Given the description of an element on the screen output the (x, y) to click on. 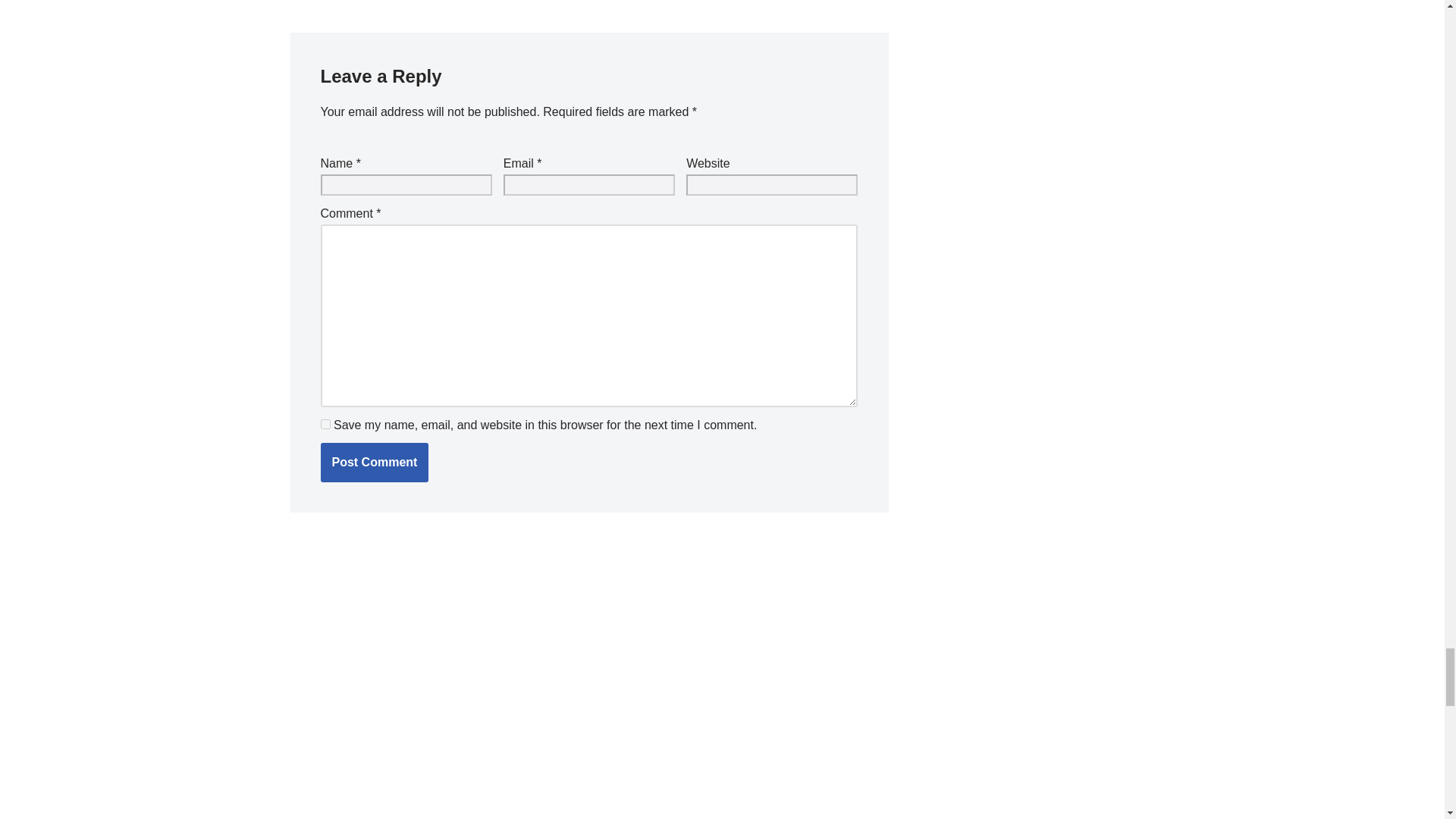
Post Comment (374, 462)
yes (325, 424)
